Given the description of an element on the screen output the (x, y) to click on. 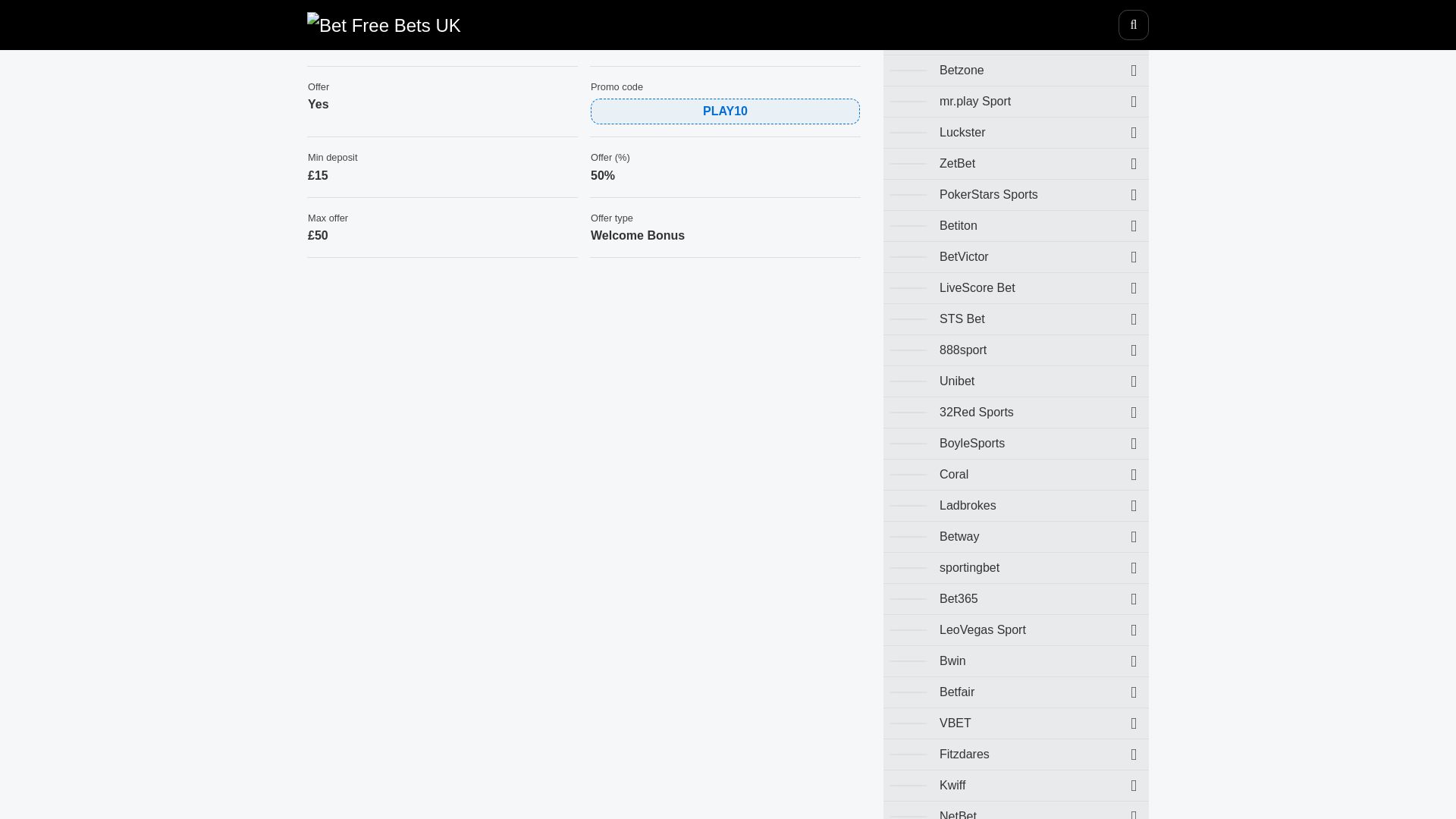
ZetBet (1015, 163)
Betfred (1015, 11)
Betway (1015, 536)
Bwin (1015, 661)
mr.play Sport (1015, 101)
BetVictor (1015, 256)
Betzone (1015, 70)
sportingbet (1015, 567)
PokerStars Sports (1015, 194)
Coral (1015, 474)
